Given the description of an element on the screen output the (x, y) to click on. 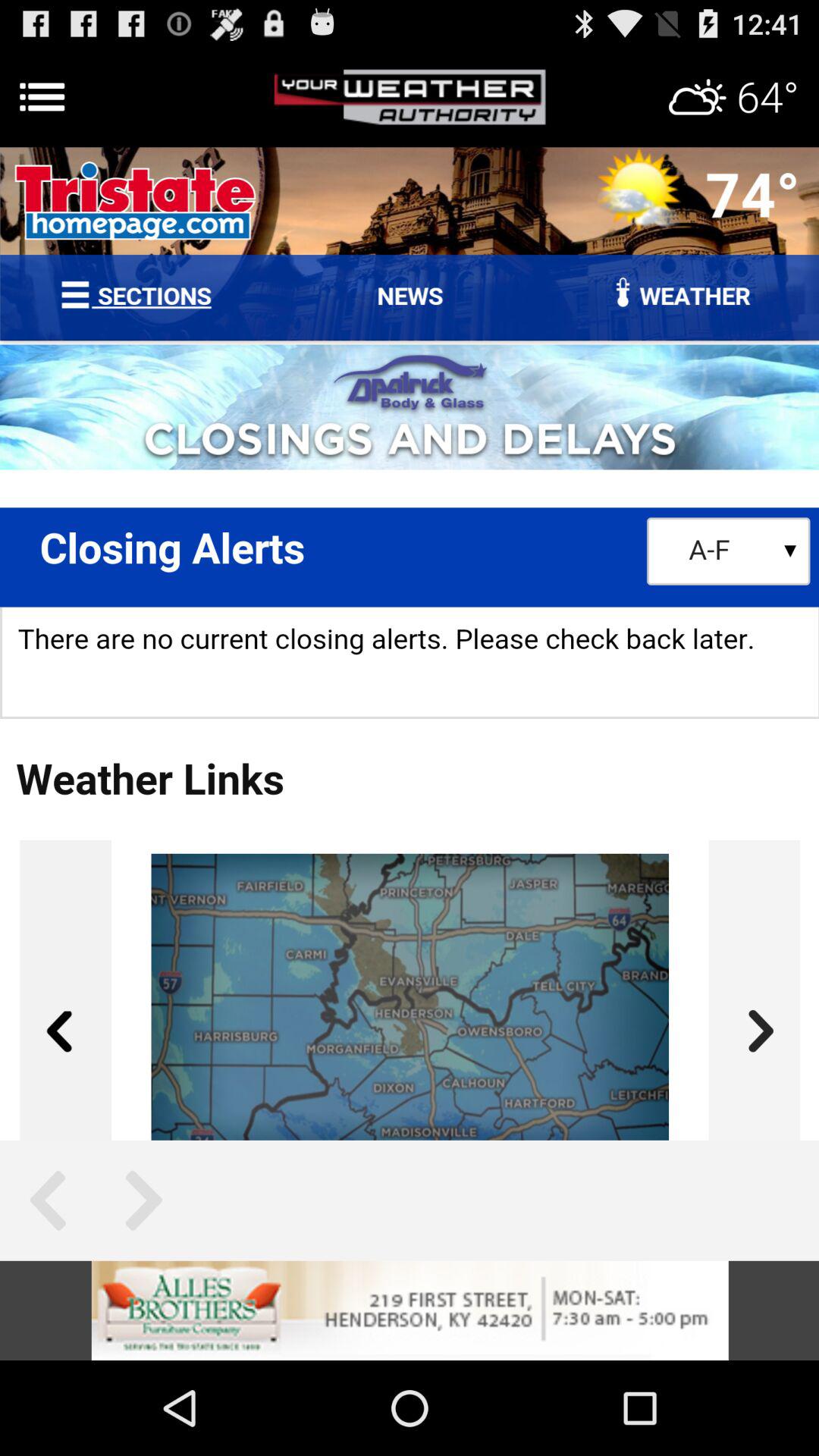
advertisement page (409, 643)
